Given the description of an element on the screen output the (x, y) to click on. 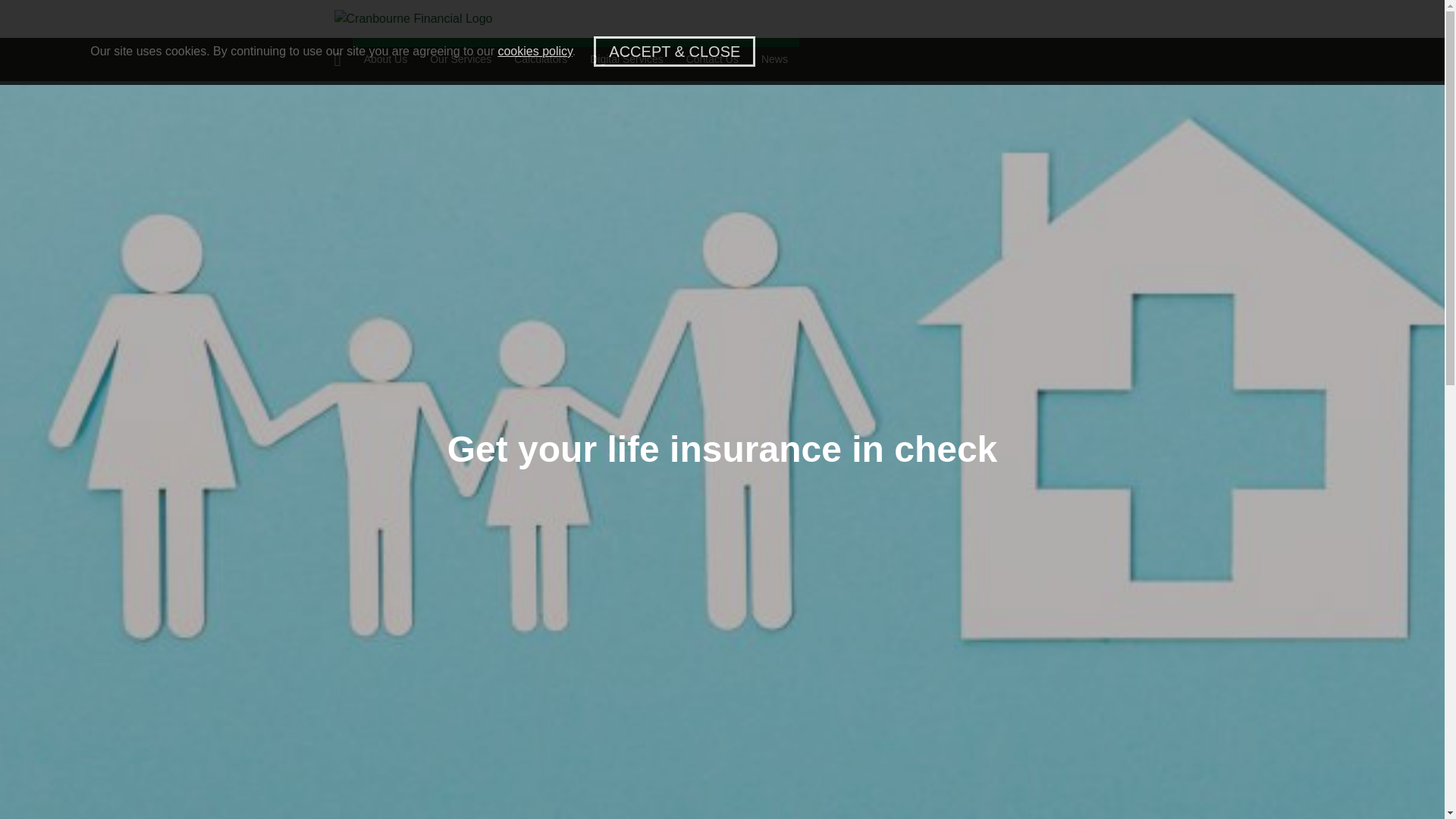
Our Services (460, 58)
Contact Us (712, 58)
cookies policy (534, 51)
Calculators (540, 58)
Digital Services (626, 58)
About Us (385, 58)
News (774, 58)
